Given the description of an element on the screen output the (x, y) to click on. 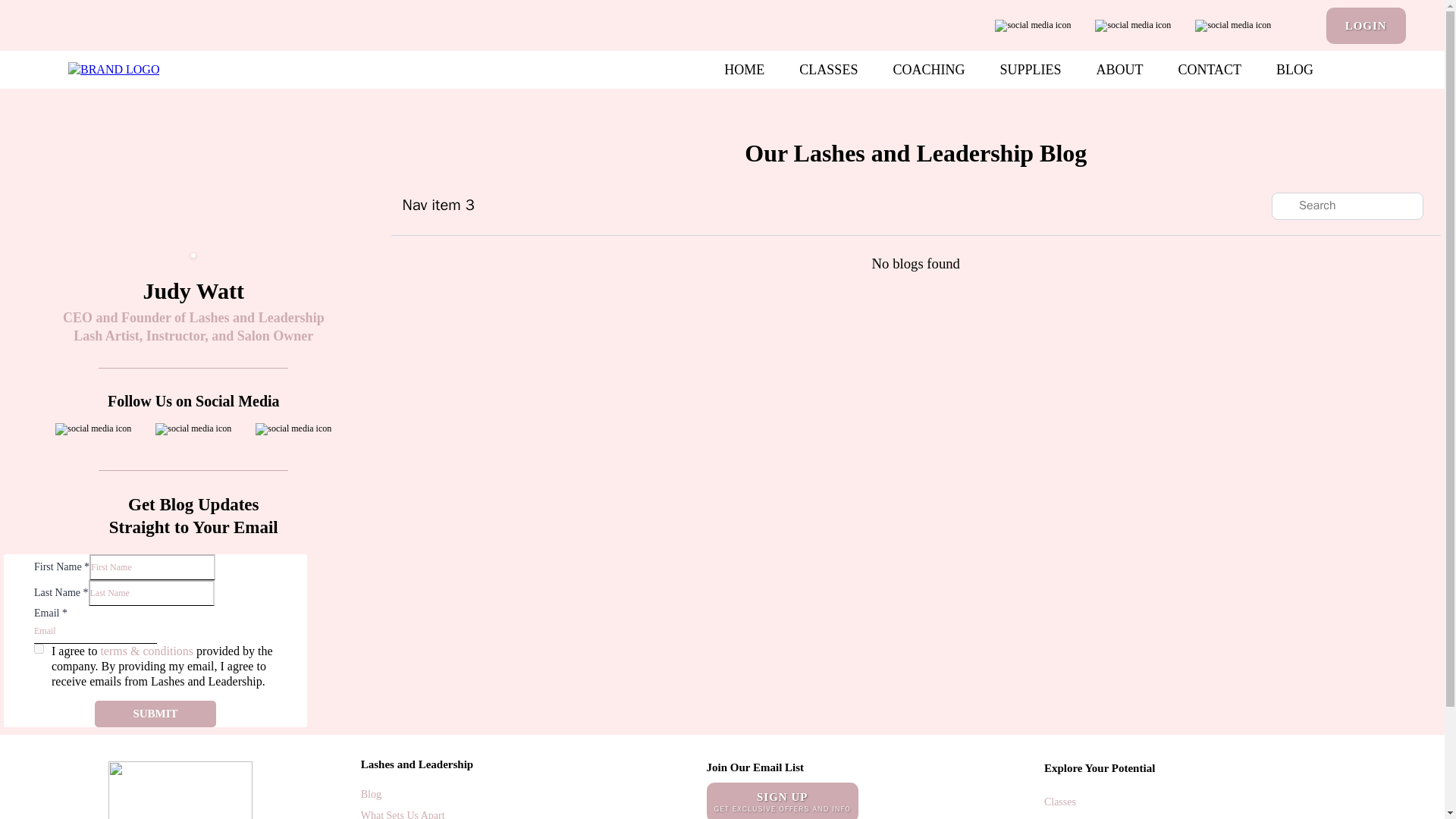
BLOG (1294, 69)
SUPPLIES (1029, 69)
CLASSES (828, 69)
HOME (743, 69)
COACHING (928, 69)
LOGIN (1366, 25)
SUBMIT (154, 714)
Nav item 3 (438, 204)
Blog (371, 794)
What Sets Us Apart (403, 814)
ABOUT (1119, 69)
CONTACT (1209, 69)
